Given the description of an element on the screen output the (x, y) to click on. 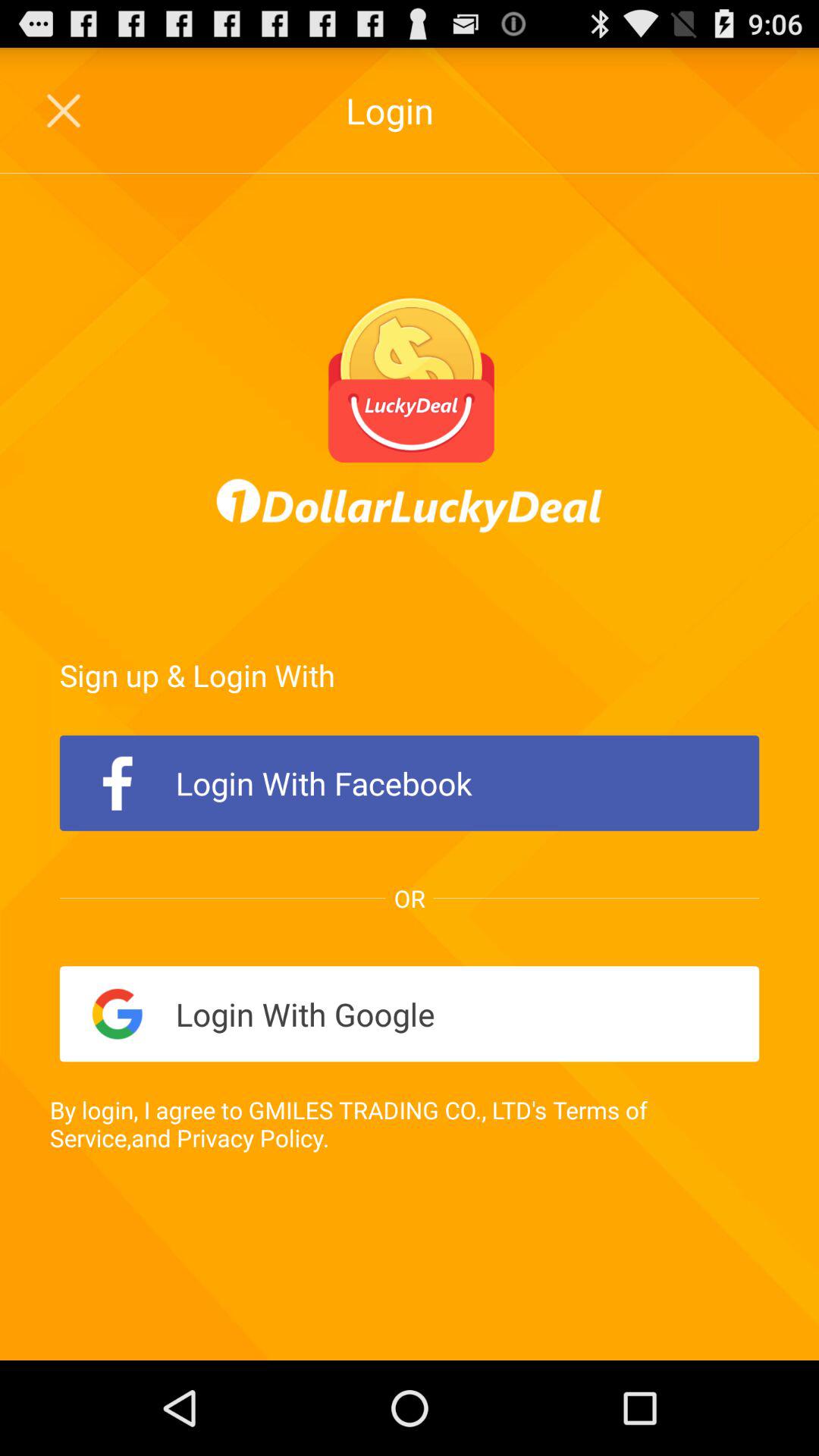
close (65, 110)
